Given the description of an element on the screen output the (x, y) to click on. 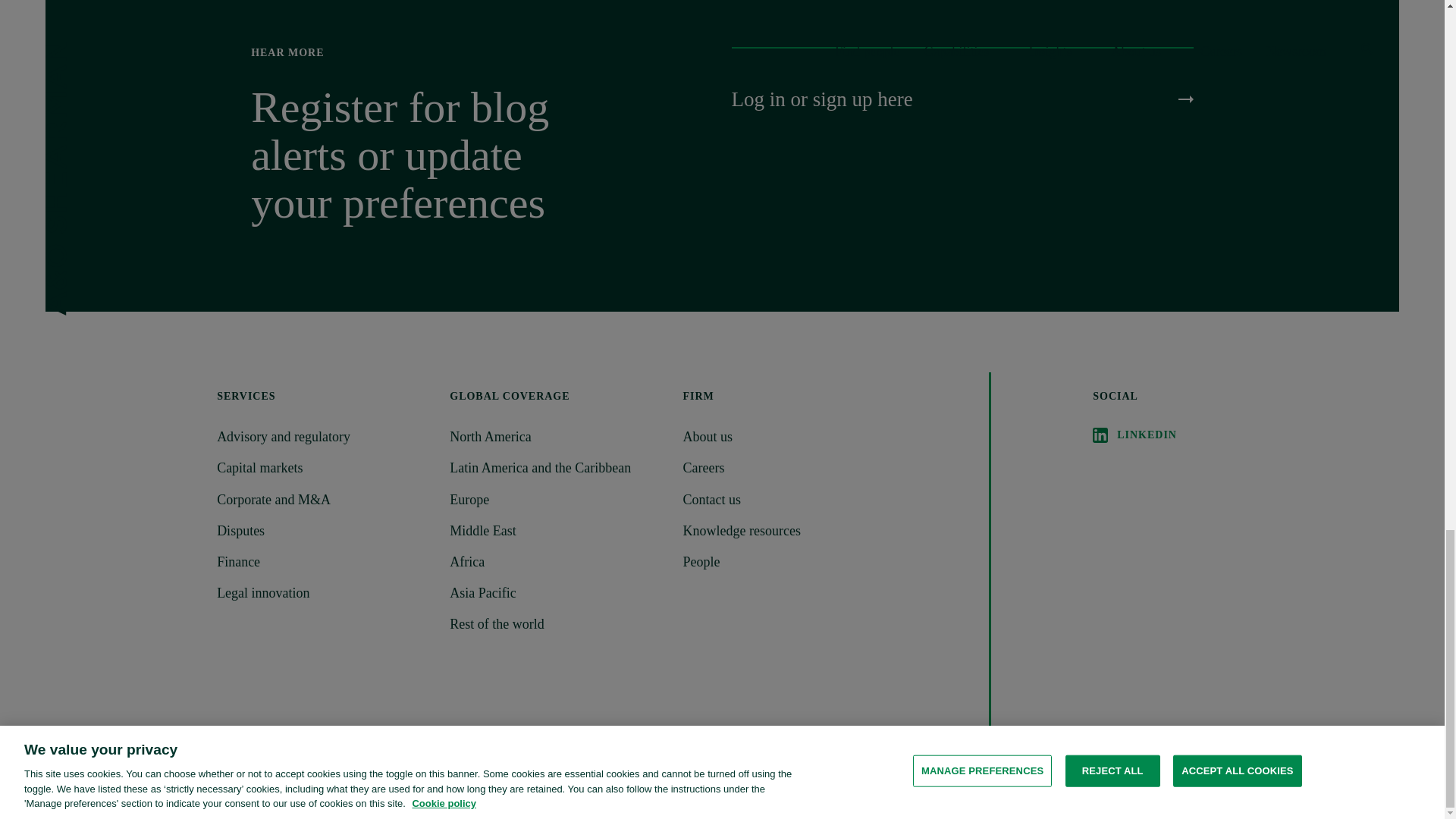
Asia Pacific (556, 592)
Careers (789, 467)
Rest of the world (556, 624)
Capital markets (323, 467)
Finance (323, 561)
North America (556, 436)
Middle East (556, 530)
Europe (556, 499)
Disputes (323, 530)
Advisory and regulatory (323, 436)
